Given the description of an element on the screen output the (x, y) to click on. 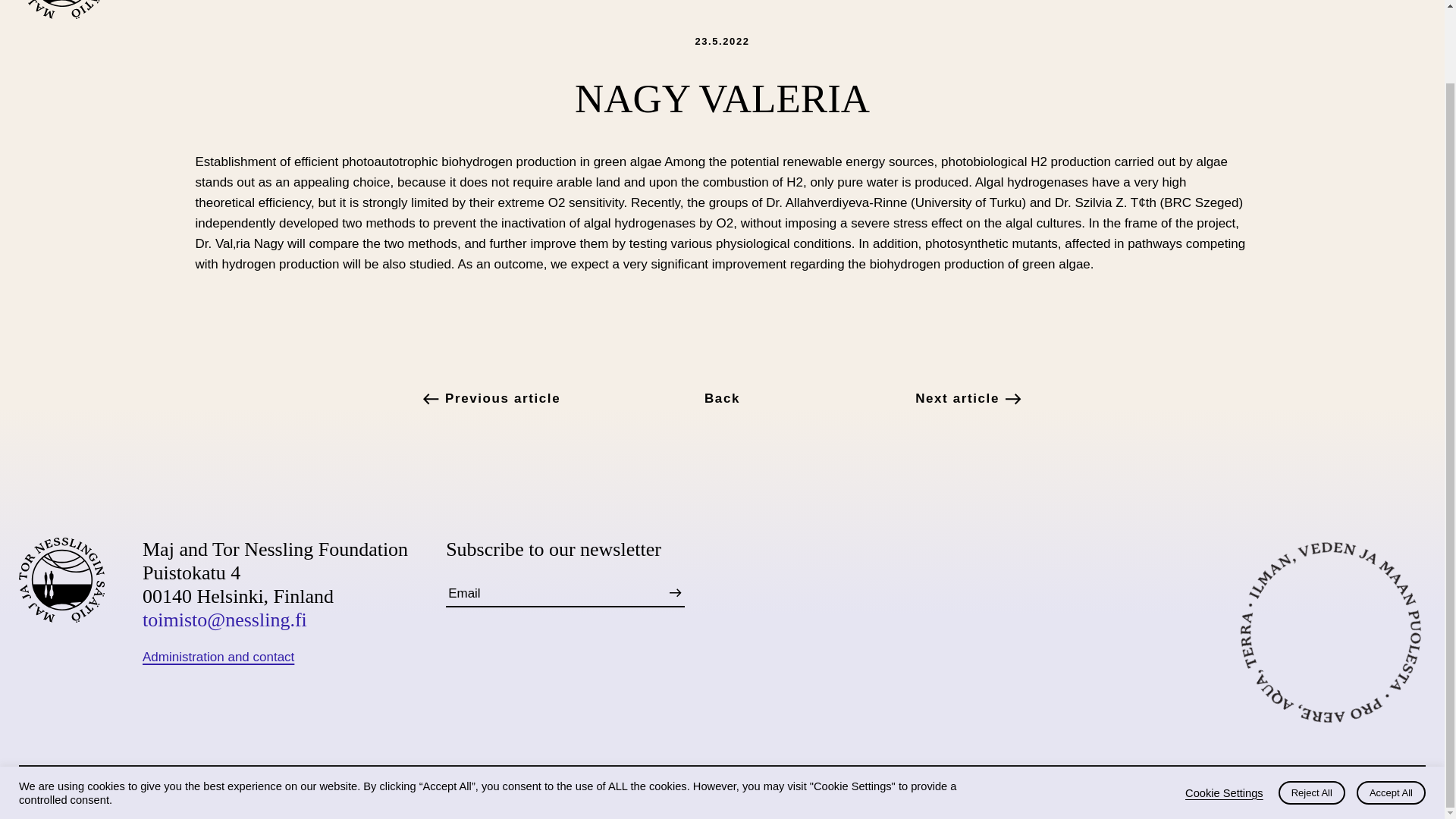
Back (721, 398)
Previous article (563, 398)
To home page (61, 9)
Next article (880, 398)
